Given the description of an element on the screen output the (x, y) to click on. 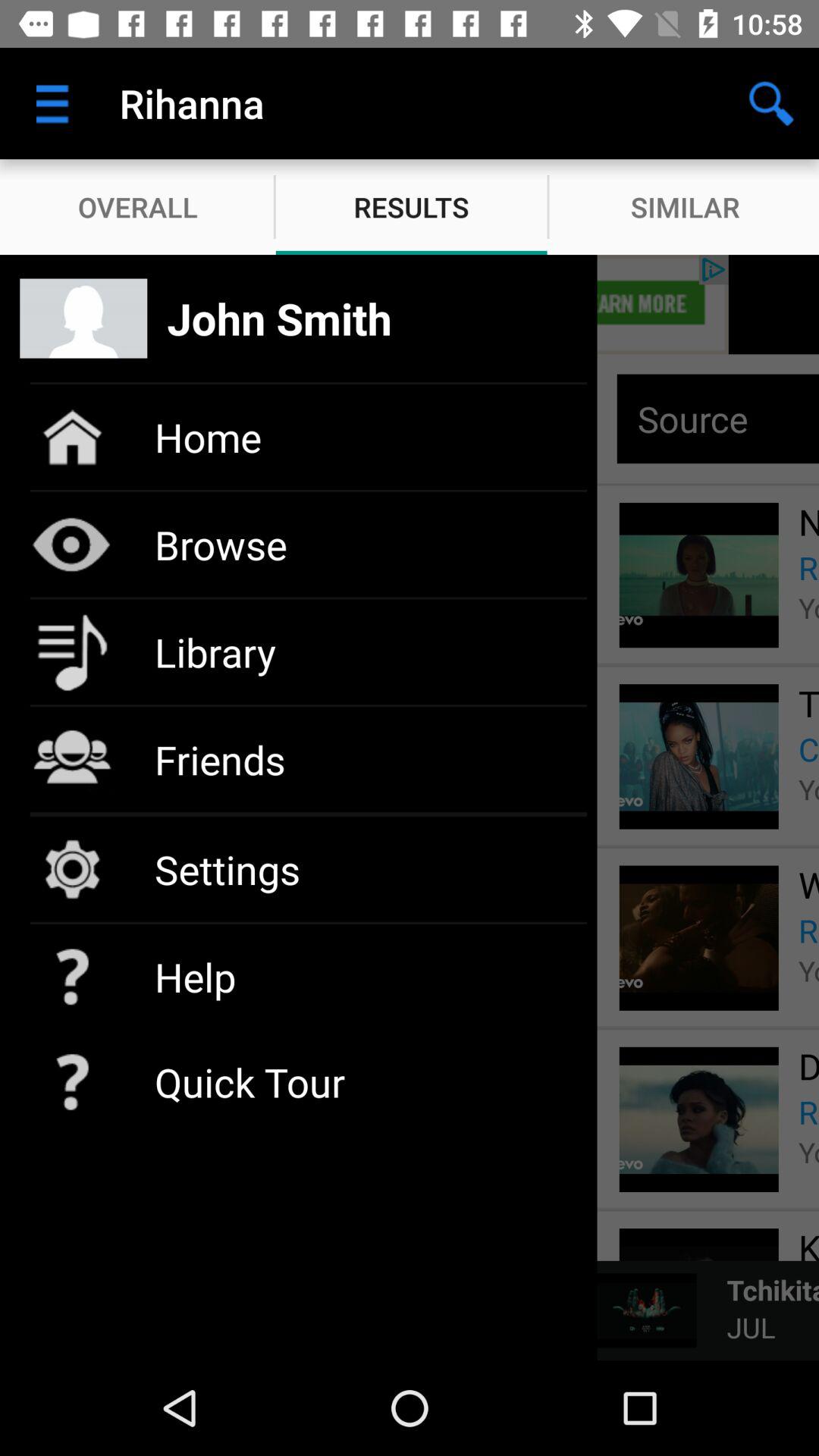
view profile (409, 304)
